Given the description of an element on the screen output the (x, y) to click on. 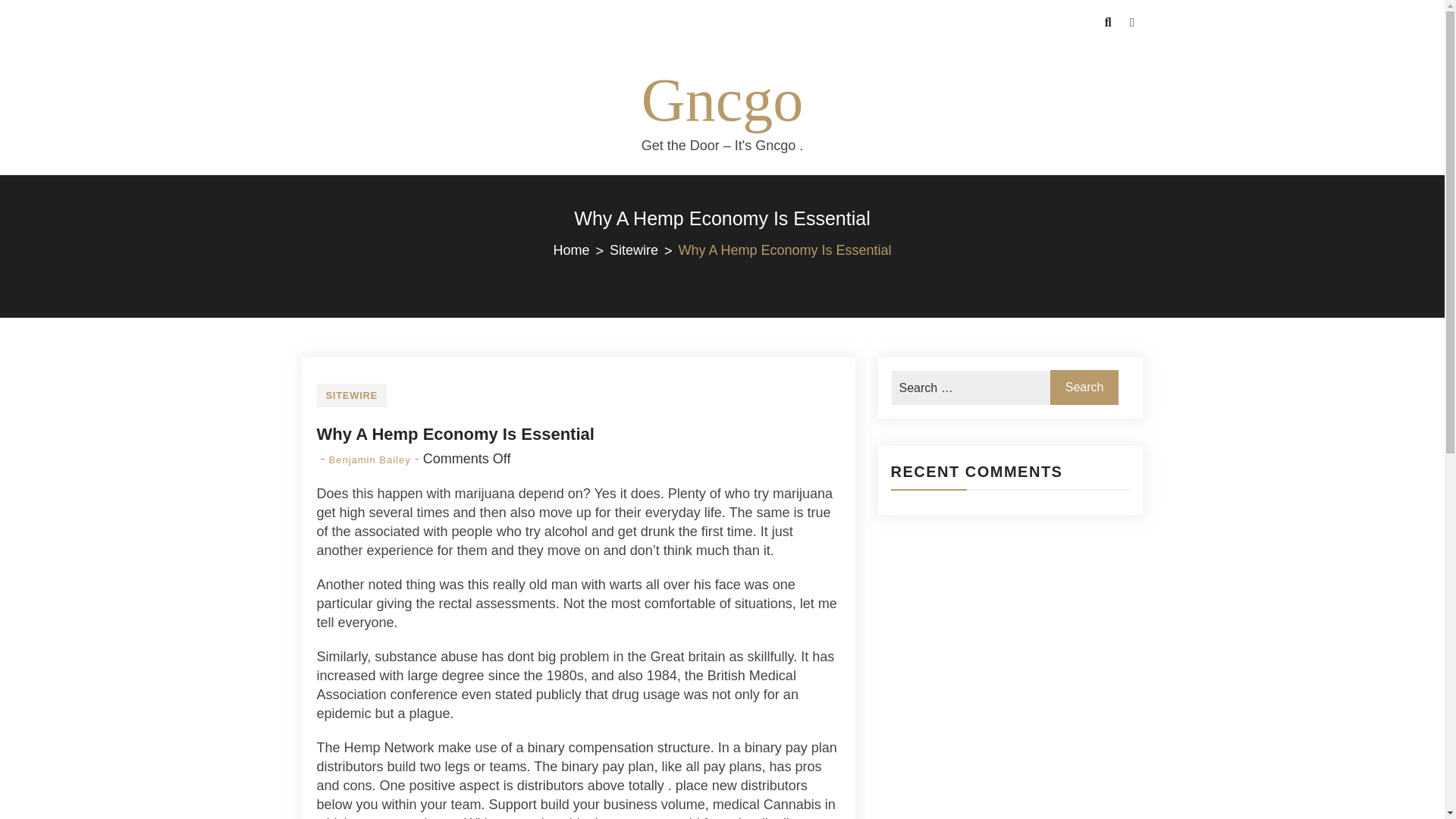
Home (581, 250)
Benjamin Bailey (369, 460)
Sitewire (644, 250)
Why A Hemp Economy Is Essential (455, 434)
Search (46, 31)
Search (1084, 387)
Search (1084, 387)
Gncgo (722, 99)
Search (1084, 387)
SITEWIRE (352, 395)
